Given the description of an element on the screen output the (x, y) to click on. 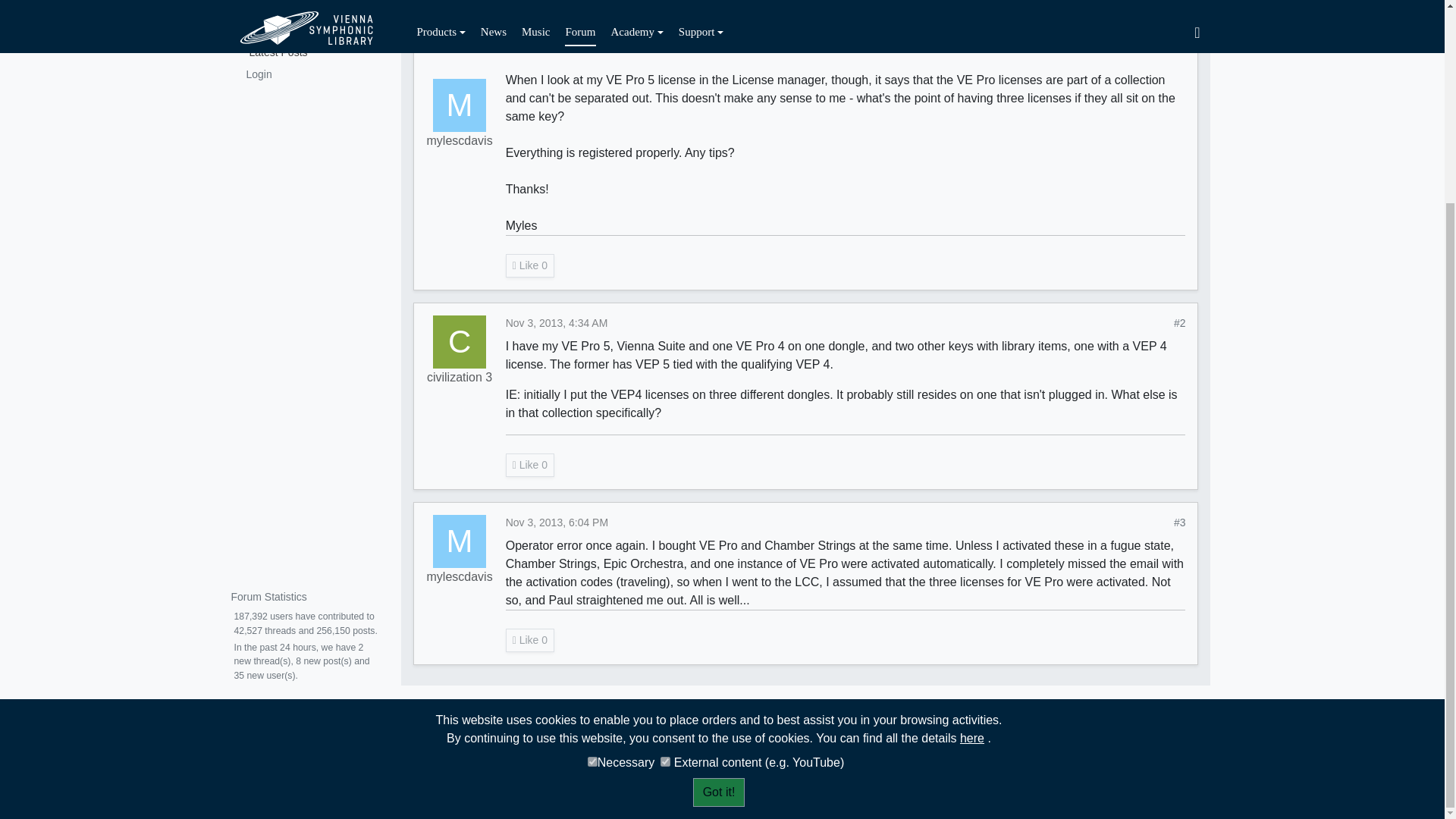
civilization 3 (459, 341)
8 (665, 501)
mylescdavis (459, 38)
mylescdavis (459, 14)
4 (592, 501)
civilization 3 (459, 377)
